Given the description of an element on the screen output the (x, y) to click on. 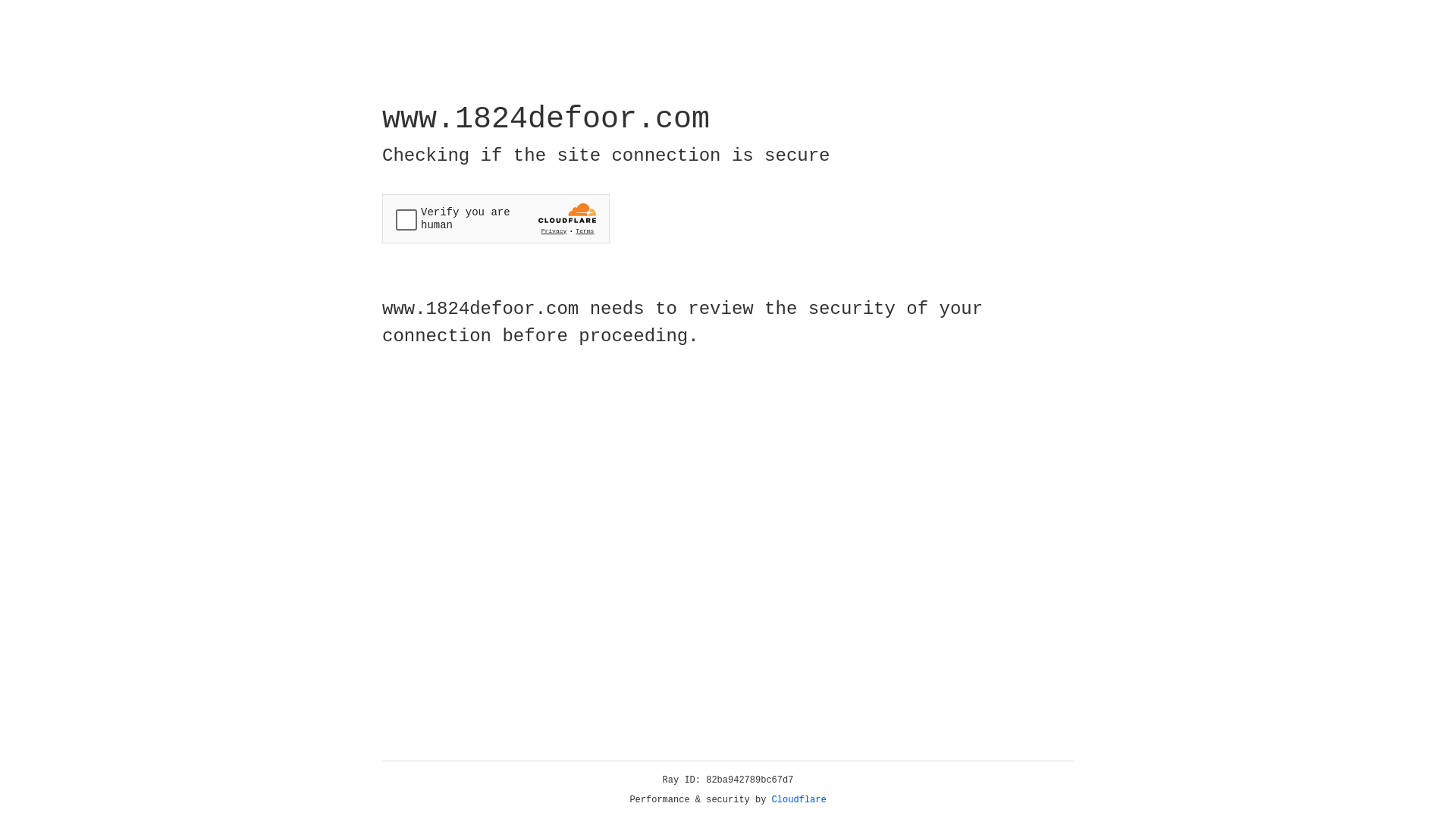
Cloudflare Element type: text (798, 799)
Widget containing a Cloudflare security challenge Element type: hover (495, 218)
